Given the description of an element on the screen output the (x, y) to click on. 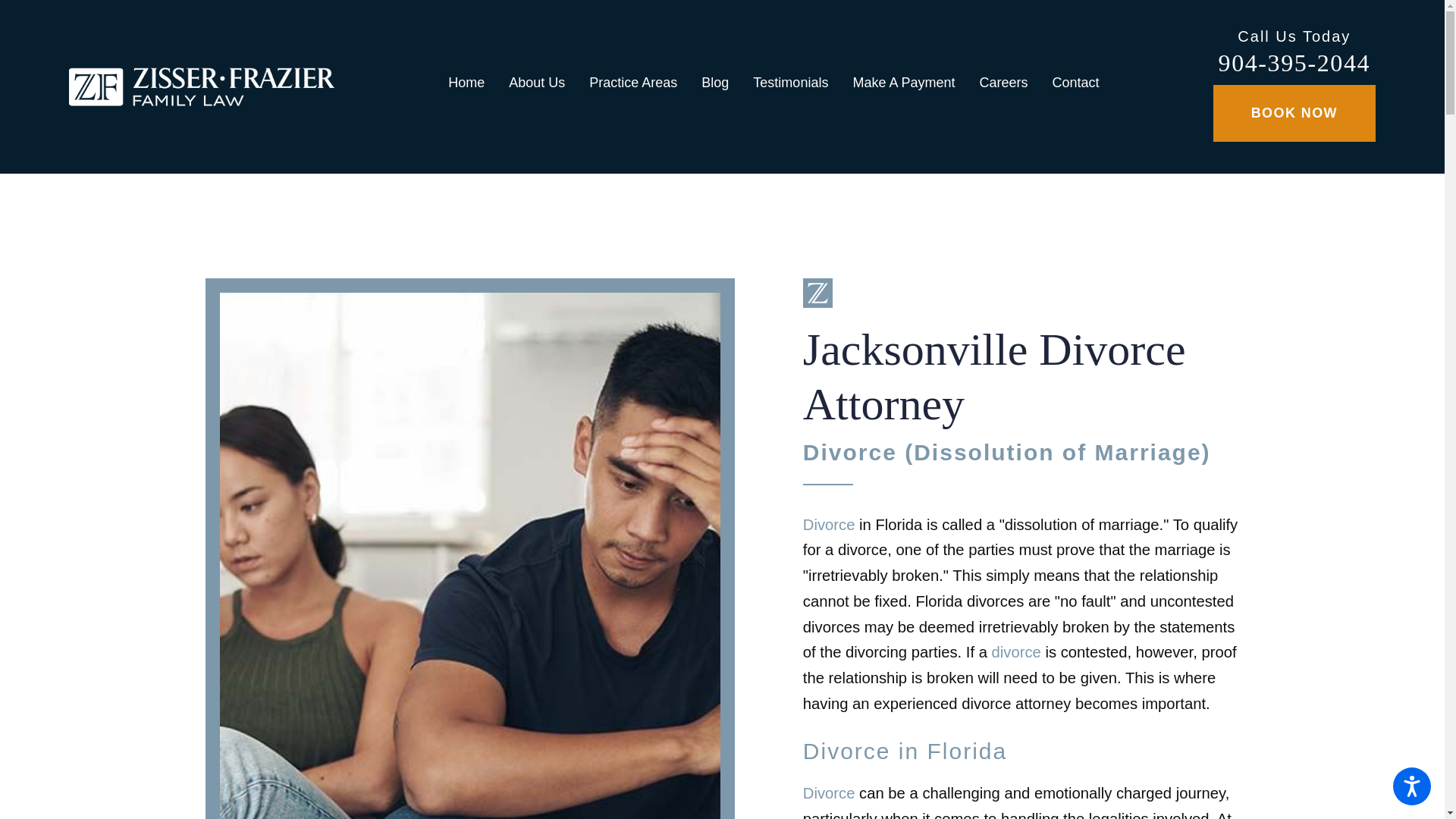
Testimonials (790, 86)
Zisser Frazier Family Law (201, 86)
Home (472, 86)
Practice Areas (632, 86)
Contact (1070, 86)
Blog (714, 86)
Careers (1002, 86)
About Us (536, 86)
Open the accessibility options menu (1412, 786)
Make A Payment (903, 86)
